Given the description of an element on the screen output the (x, y) to click on. 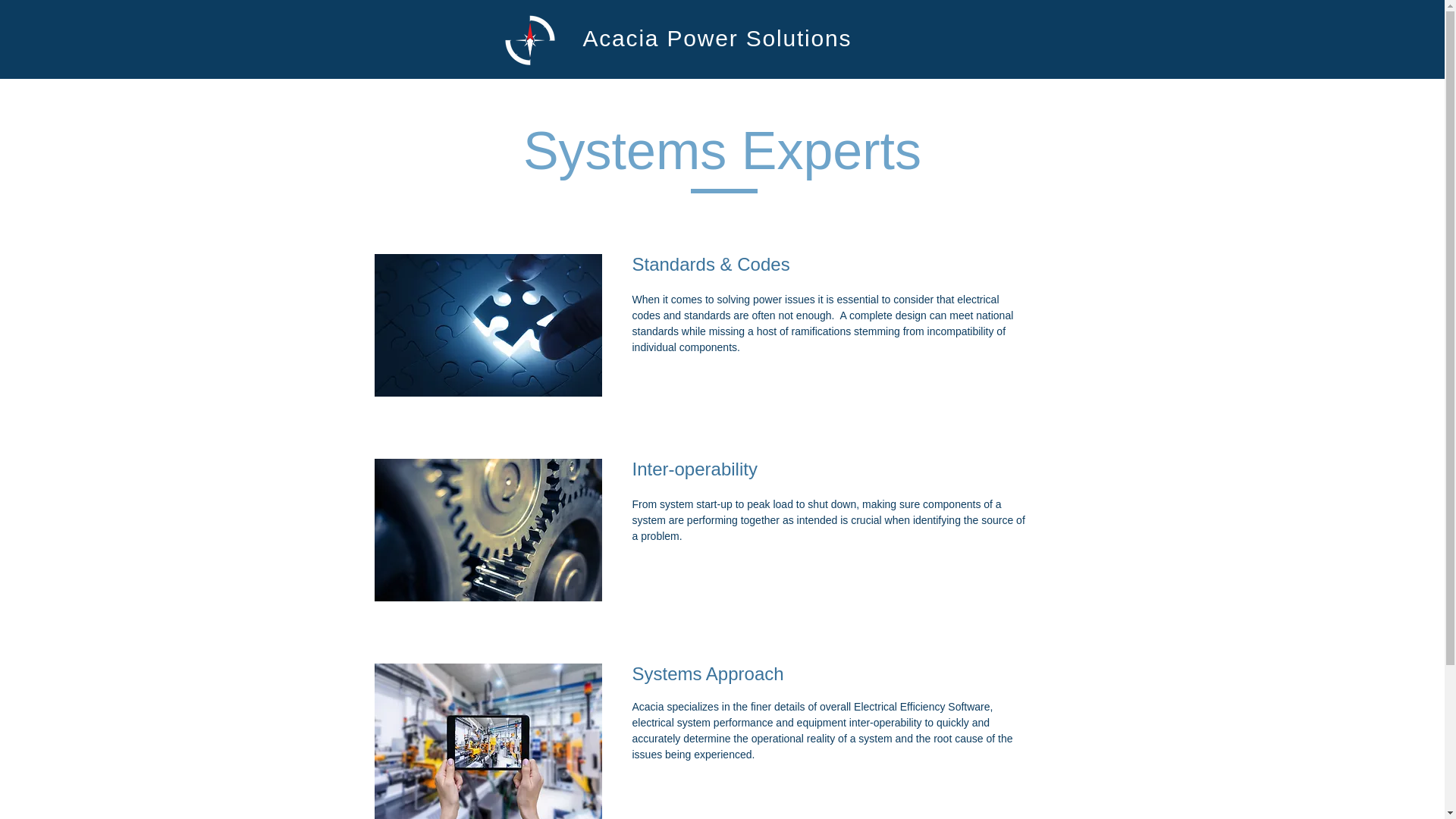
iStock-489145508.jpg (488, 324)
iStock-584473348.jpg (488, 741)
AcaciaLogo016 0150ppi.png (528, 38)
iStock-544678168.jpg (488, 529)
Acacia Power Solutions (716, 37)
